Given the description of an element on the screen output the (x, y) to click on. 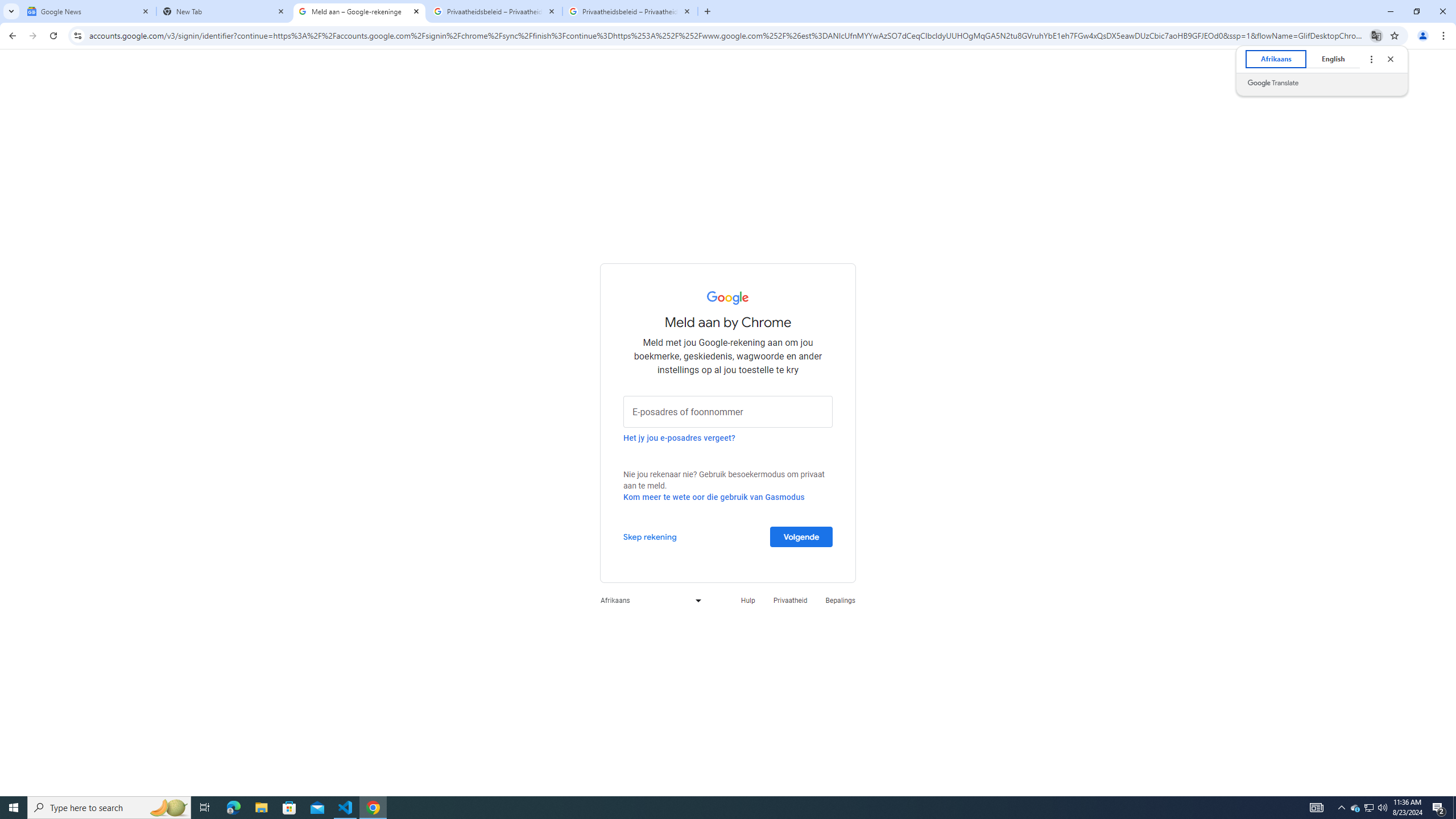
Google News (88, 11)
Afrikaans (647, 600)
New Tab (224, 11)
Search highlights icon opens search home window (167, 807)
Kom meer te wete oor die gebruik van Gasmodus (713, 497)
Skep rekening (1368, 807)
User Promoted Notification Area (649, 536)
English (1368, 807)
